Given the description of an element on the screen output the (x, y) to click on. 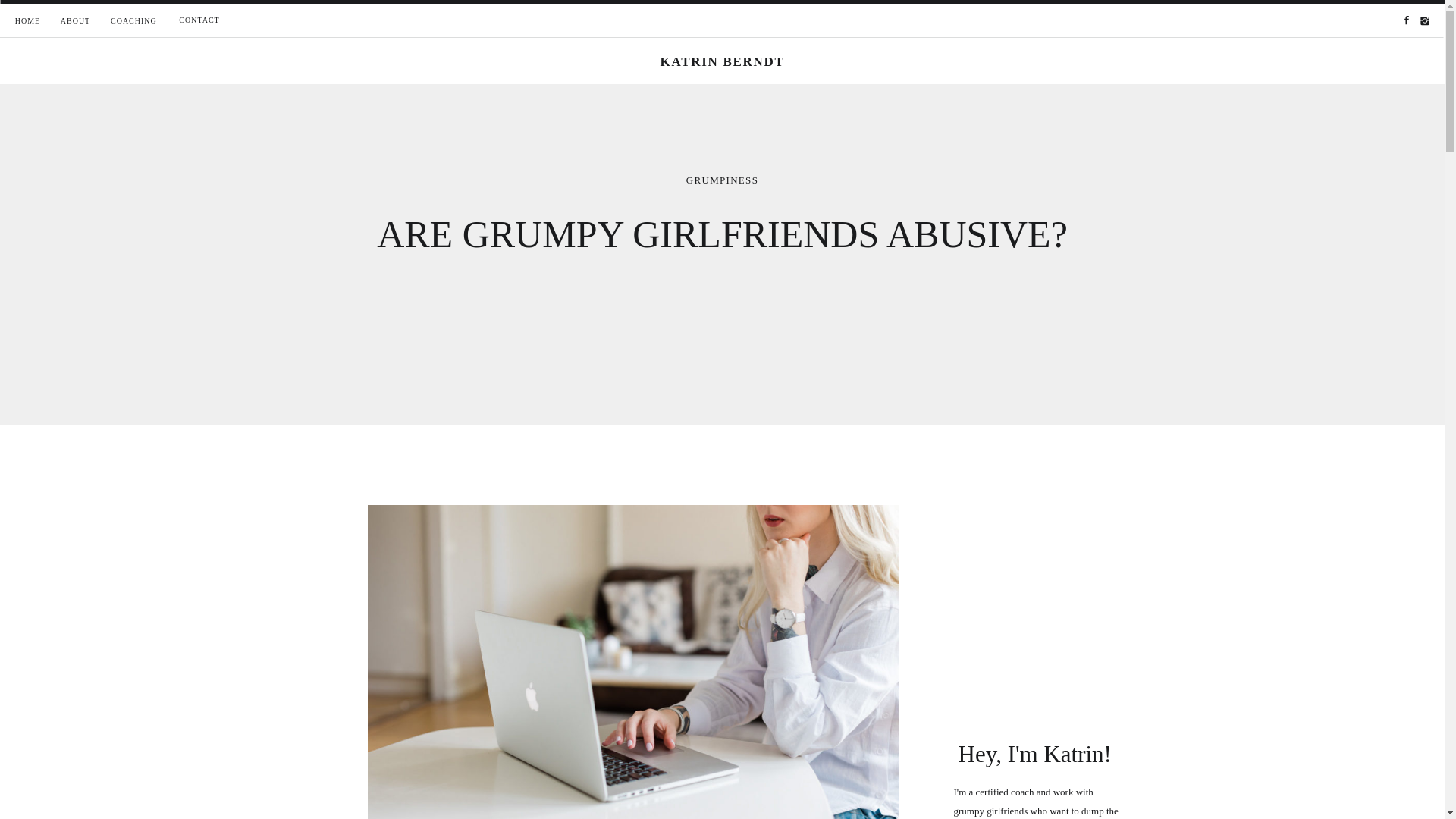
CONTACT (199, 20)
HOME (27, 20)
KATRIN BERNDT (722, 62)
COACHING (132, 20)
GRUMPINESS (721, 179)
ABOUT (74, 20)
